Given the description of an element on the screen output the (x, y) to click on. 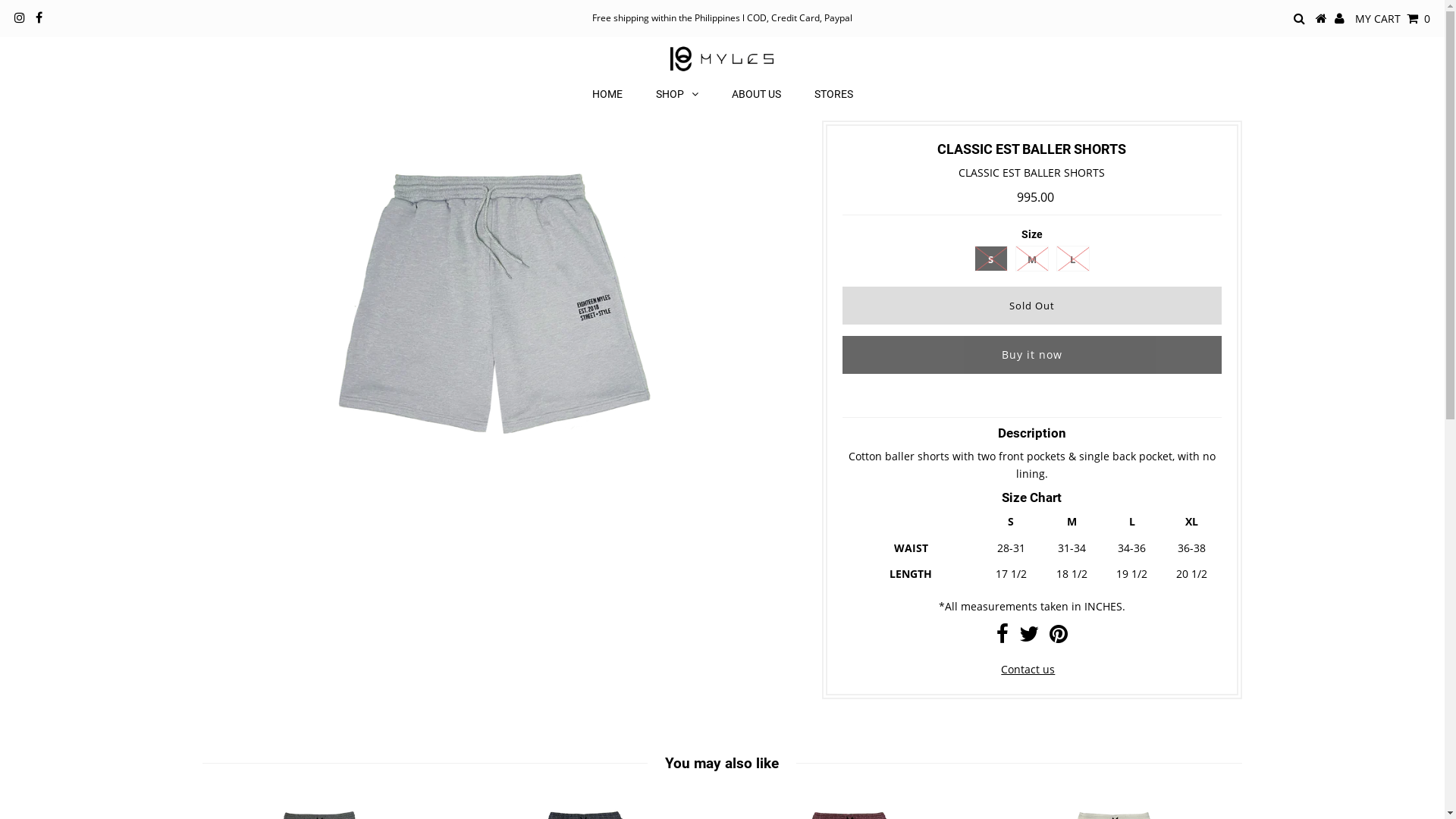
HOME Element type: text (606, 93)
Contact us Element type: text (1027, 669)
MY CART    0 Element type: text (1392, 18)
ABOUT US Element type: text (755, 93)
Buy it now Element type: text (1031, 354)
Sold Out Element type: text (1031, 305)
Share on Pinterest Element type: hover (1058, 637)
SHOP Element type: text (676, 93)
Share on Facebook Element type: hover (1002, 637)
Share on Twitter Element type: hover (1028, 637)
STORES Element type: text (833, 93)
